Given the description of an element on the screen output the (x, y) to click on. 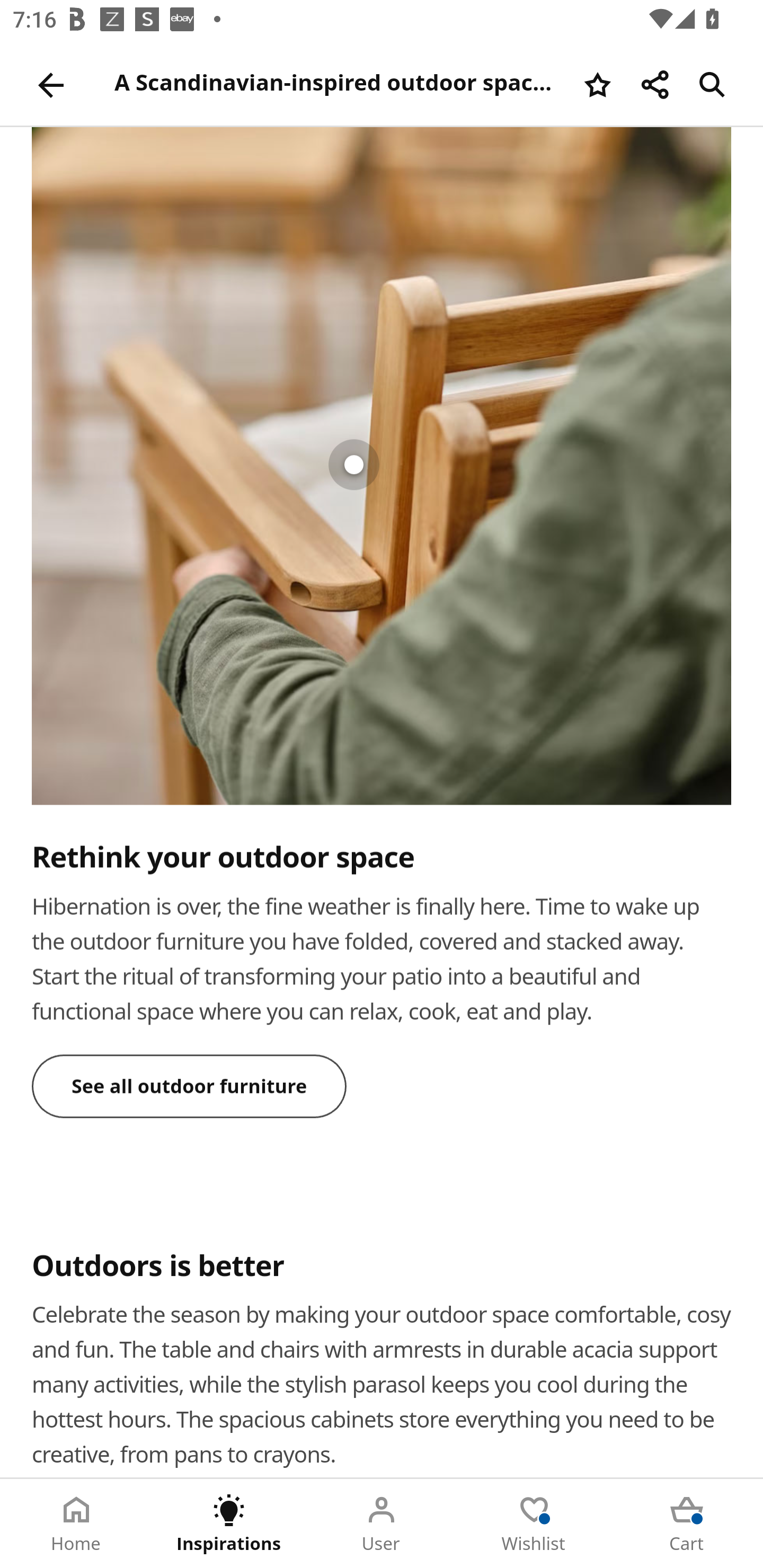
See all outdoor furniture (189, 1086)
Home
Tab 1 of 5 (76, 1522)
Inspirations
Tab 2 of 5 (228, 1522)
User
Tab 3 of 5 (381, 1522)
Wishlist
Tab 4 of 5 (533, 1522)
Cart
Tab 5 of 5 (686, 1522)
